Given the description of an element on the screen output the (x, y) to click on. 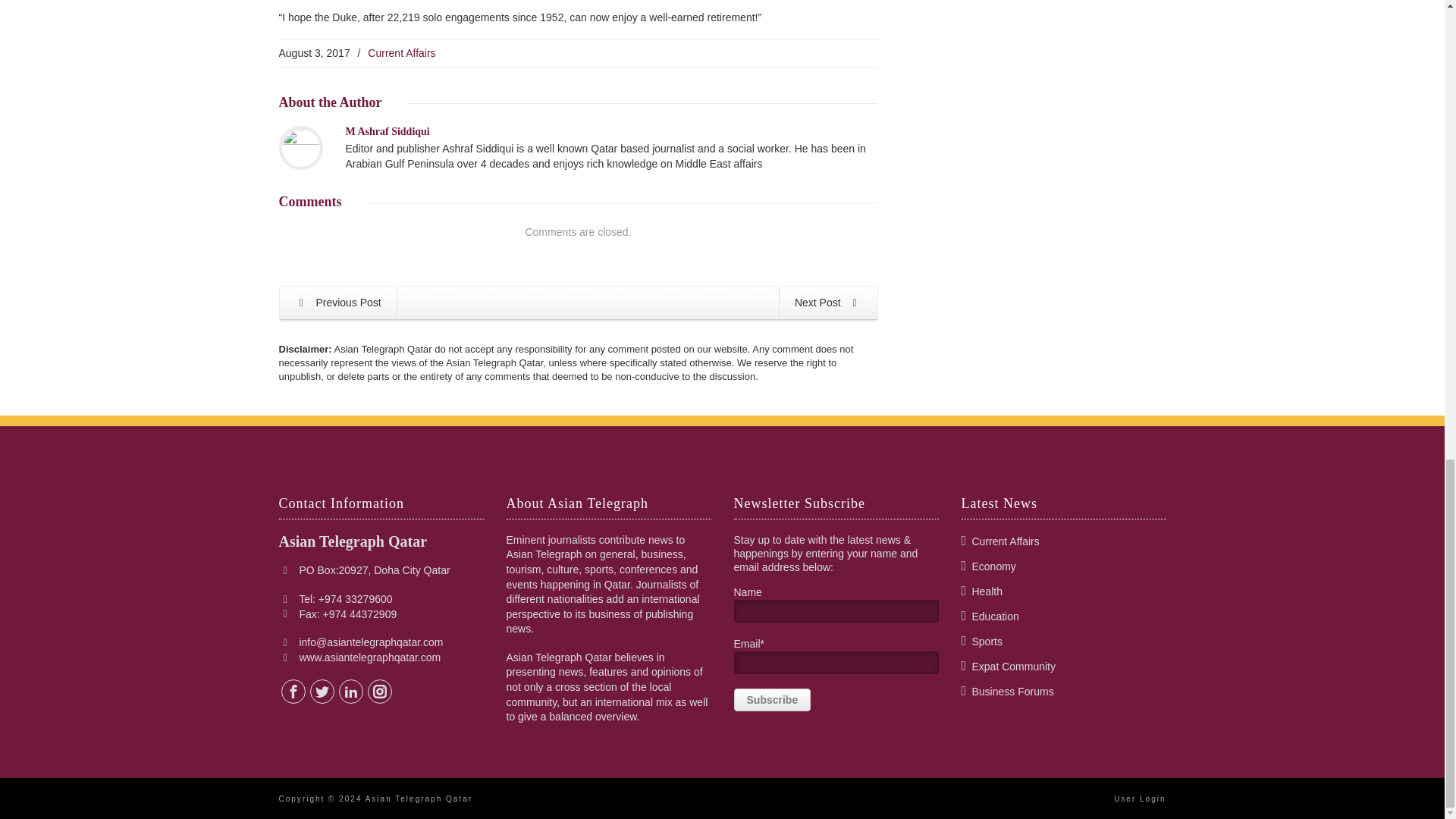
Linkedin (350, 691)
M Ashraf Siddiqui (387, 131)
Next Post (828, 302)
Iranian Diplomatic Team is to Depart for Saudi Arabia (337, 302)
Current Affairs (401, 52)
Author's Posts (387, 131)
Facebook (293, 691)
Subscribe (771, 699)
Previous Post (337, 302)
Twitter (322, 691)
